Given the description of an element on the screen output the (x, y) to click on. 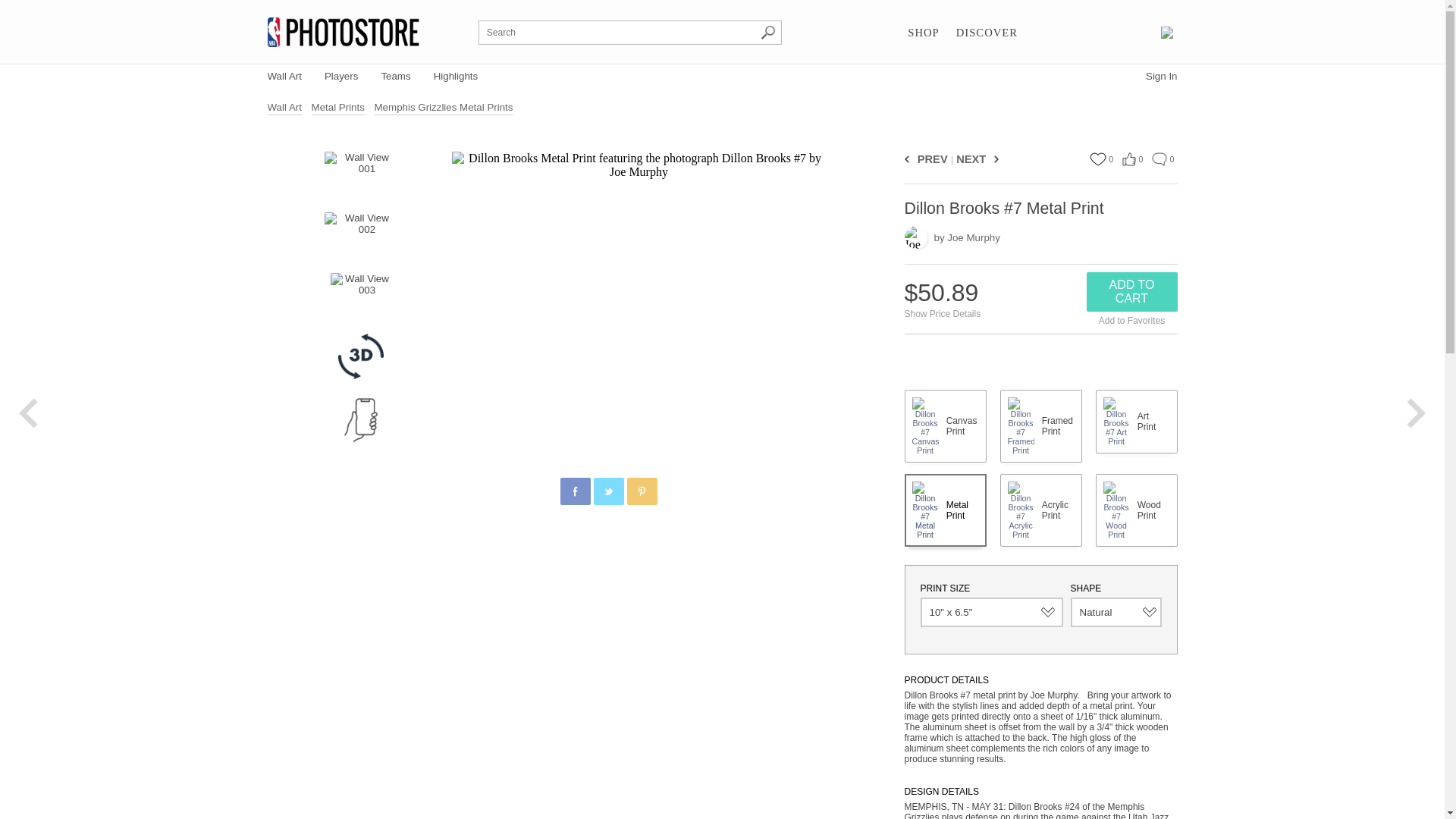
SHOP (922, 32)
Share Product on Pinterest (641, 491)
Facebook (575, 491)
Wall View 003 (360, 295)
Wall View 002 (360, 234)
Share Product on Facebook (574, 491)
Search (767, 32)
Comment (1158, 159)
3D View (360, 356)
Pinterest (642, 491)
